Given the description of an element on the screen output the (x, y) to click on. 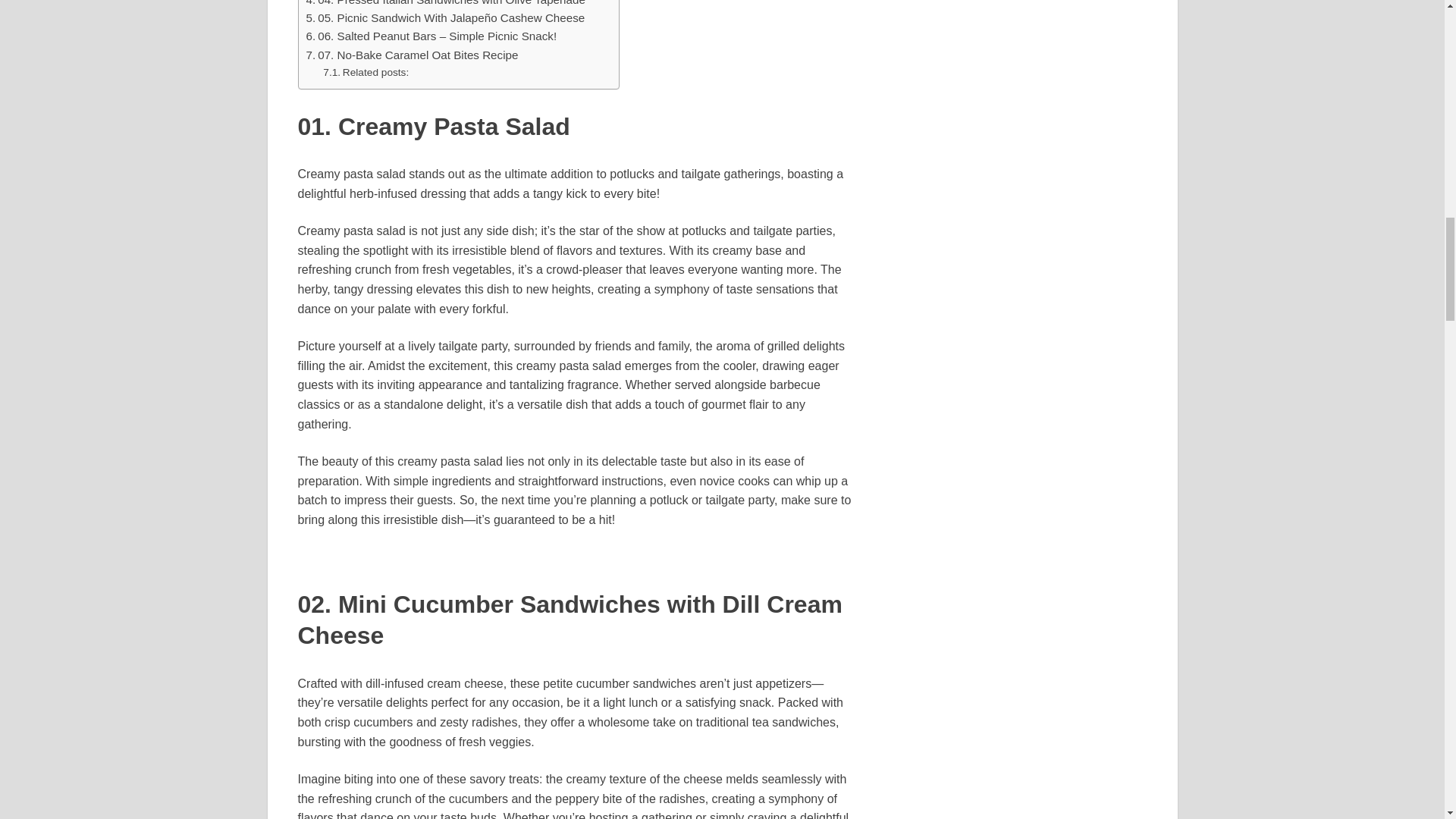
Related posts: (366, 72)
07. No-Bake Caramel Oat Bites Recipe (411, 54)
07. No-Bake Caramel Oat Bites Recipe (411, 54)
Related posts: (366, 72)
04. Pressed Italian Sandwiches with Olive Tapenade (445, 4)
04. Pressed Italian Sandwiches with Olive Tapenade (445, 4)
